Given the description of an element on the screen output the (x, y) to click on. 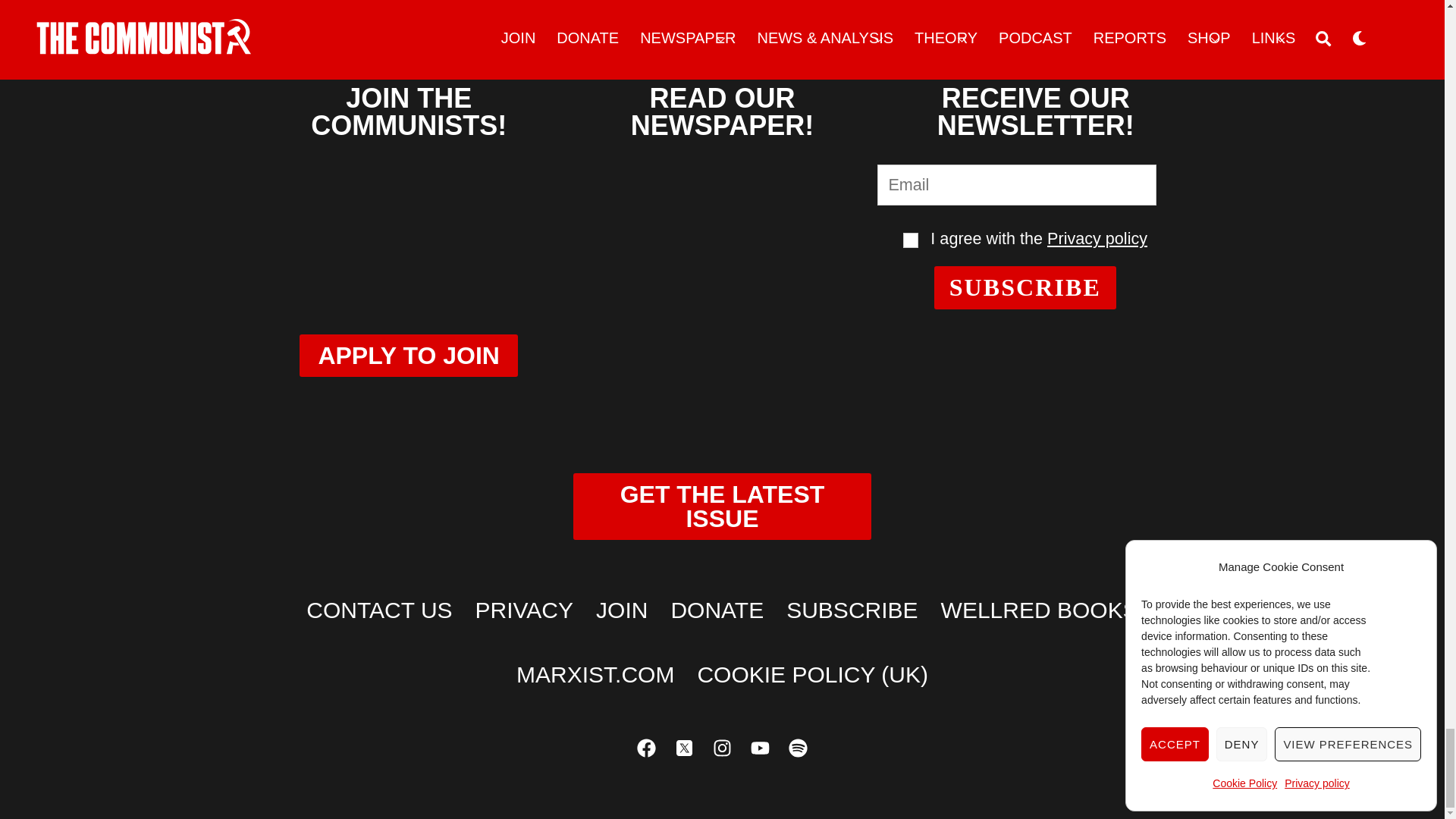
Terms and conditions (910, 240)
on (910, 240)
Privacy policy (1096, 238)
